Given the description of an element on the screen output the (x, y) to click on. 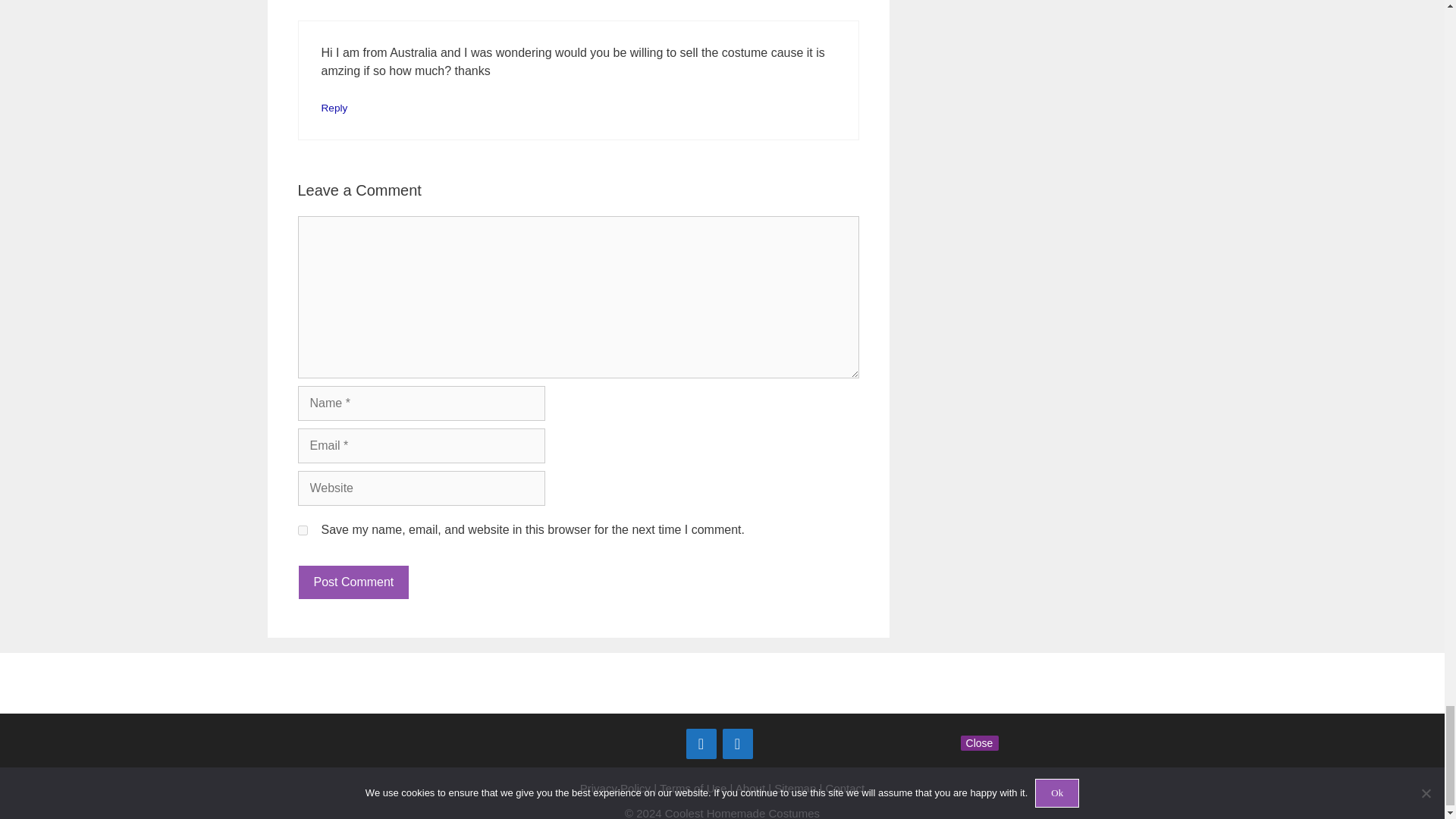
Facebook (700, 743)
yes (302, 530)
Post Comment (353, 582)
